Given the description of an element on the screen output the (x, y) to click on. 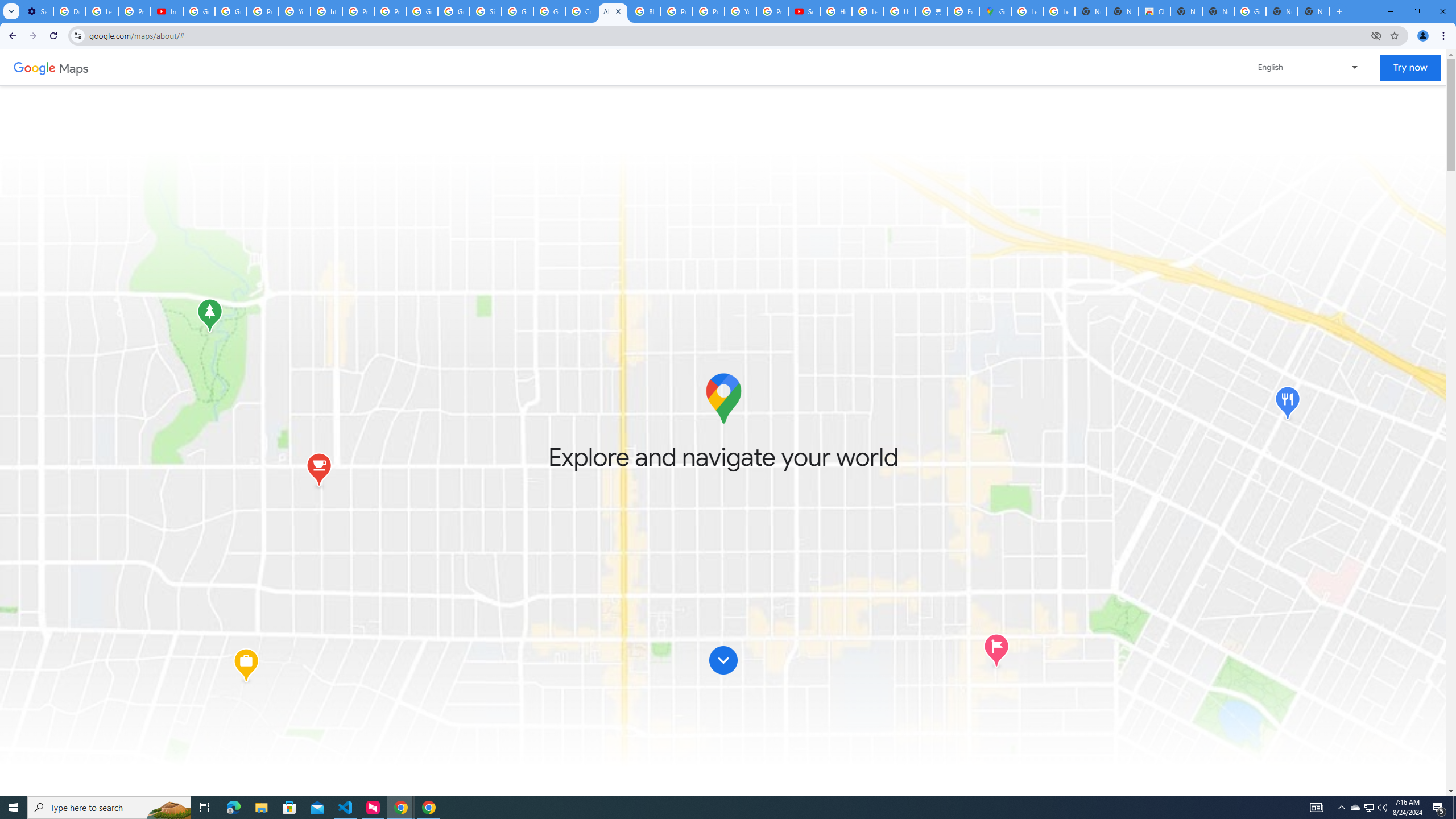
Introduction | Google Privacy Policy - YouTube (166, 11)
Sign in - Google Accounts (485, 11)
YouTube (294, 11)
Google Maps logo (722, 398)
Privacy Help Center - Policies Help (676, 11)
Change language or region (1308, 66)
